Given the description of an element on the screen output the (x, y) to click on. 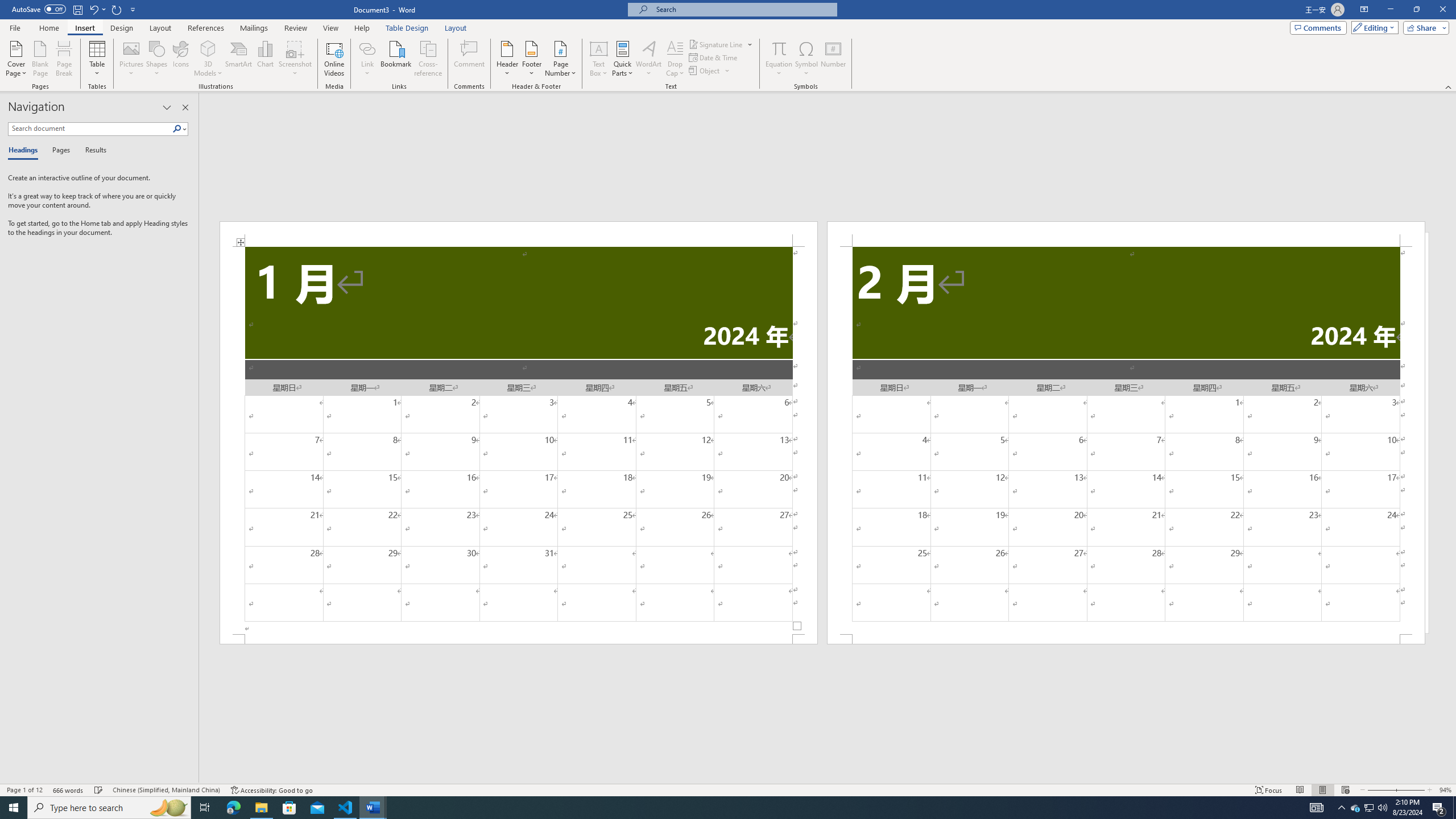
Text Box (598, 58)
Screenshot (295, 58)
Cross-reference... (428, 58)
Cover Page (16, 58)
Symbol (806, 58)
Pictures (131, 58)
Footer -Section 2- (1126, 638)
